Given the description of an element on the screen output the (x, y) to click on. 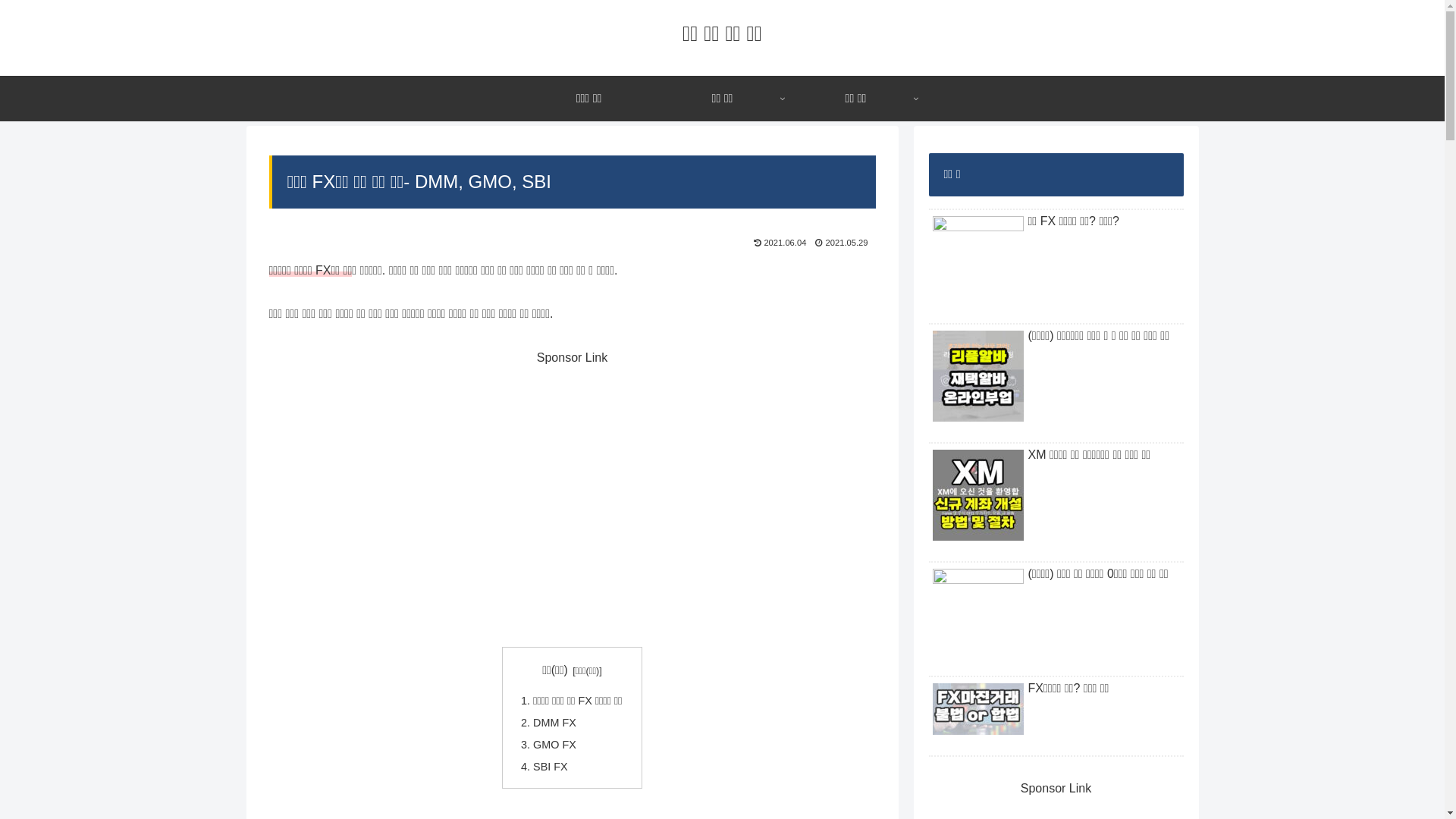
GMO FX Element type: text (554, 744)
SBI FX Element type: text (550, 766)
DMM FX Element type: text (554, 722)
Advertisement Element type: hover (571, 496)
